Given the description of an element on the screen output the (x, y) to click on. 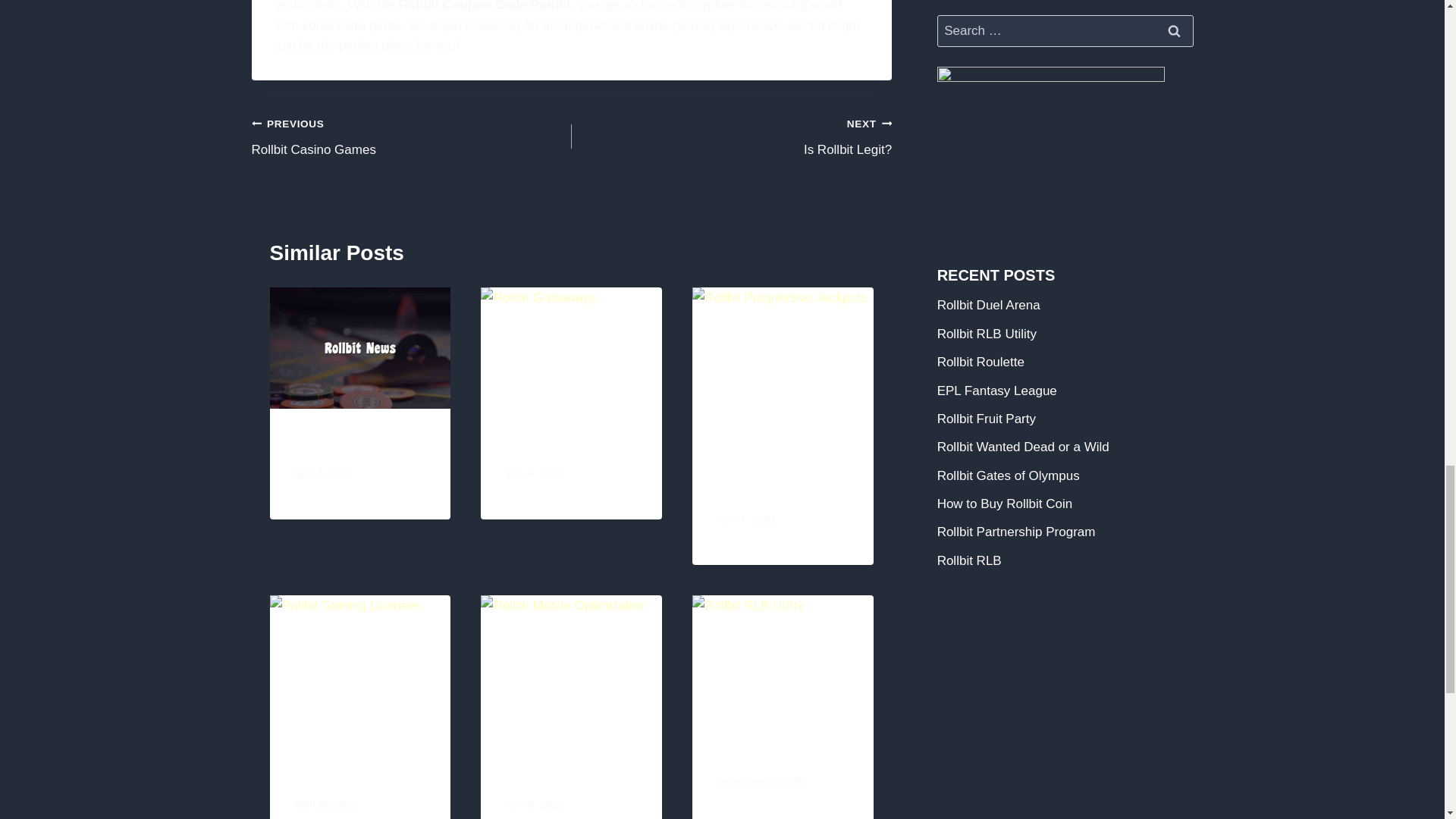
Rollbit Giveaways (569, 443)
Rollbit Gaming Licenses (411, 136)
Rollbit RLB Utility (347, 762)
Rollbit Mobile Optimization (780, 751)
Rollbit News (731, 136)
Rollbit Progressive Jackpots (554, 762)
